Given the description of an element on the screen output the (x, y) to click on. 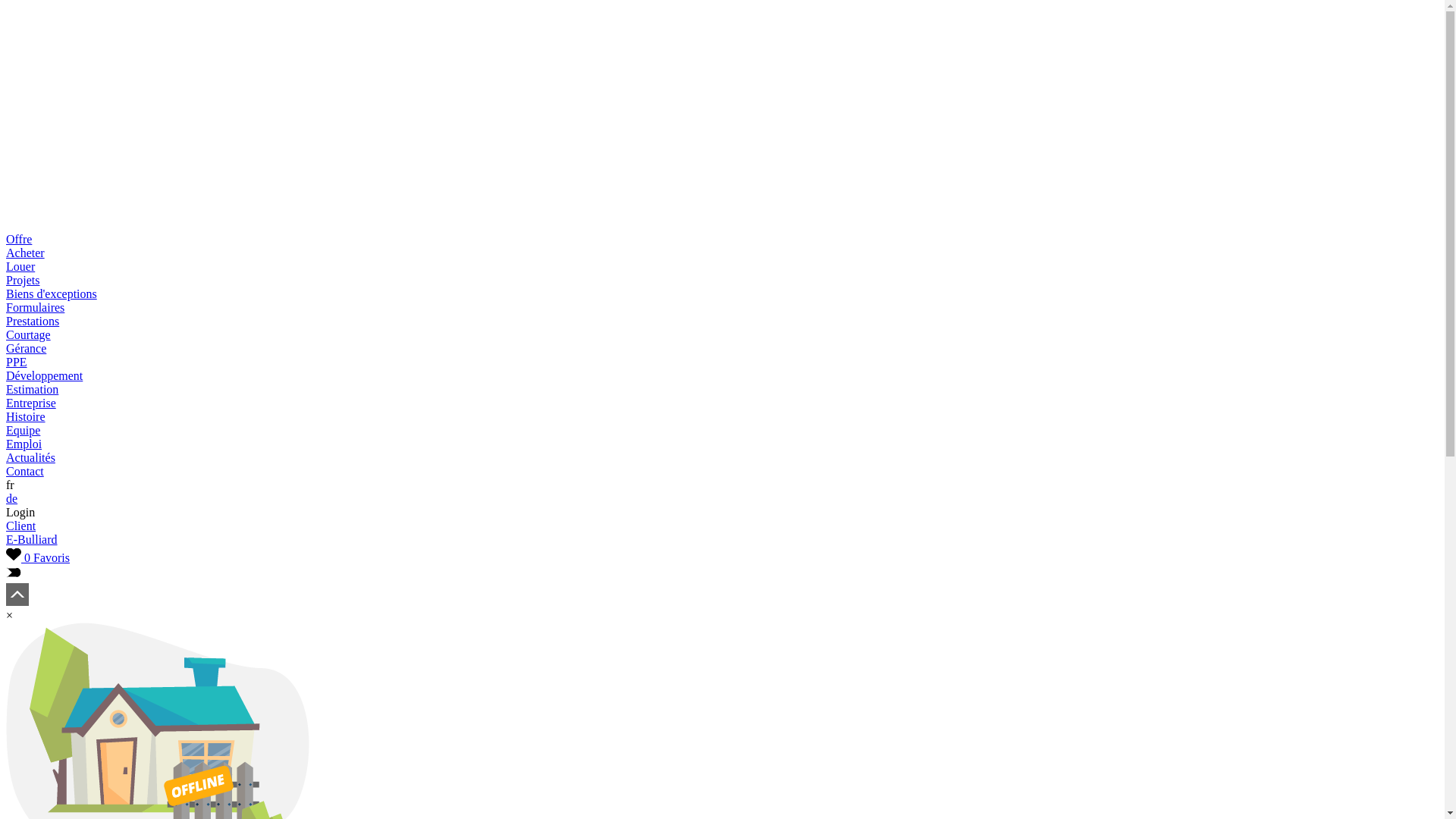
de Element type: text (11, 498)
Louer Element type: text (20, 266)
Client Element type: text (20, 525)
Estimation Element type: text (32, 388)
E-Bulliard Element type: text (31, 539)
Courtage Element type: text (28, 334)
Formulaires Element type: text (35, 307)
Prestations Element type: text (32, 320)
Histoire Element type: text (25, 416)
fr Element type: text (10, 484)
0 Favoris Element type: text (37, 557)
PPE Element type: text (16, 361)
Login Element type: text (20, 511)
Emploi Element type: text (23, 443)
Biens d'exceptions Element type: text (51, 293)
Acheter Element type: text (25, 252)
Contact Element type: text (24, 470)
Entreprise Element type: text (31, 402)
Equipe Element type: text (23, 429)
Projets Element type: text (22, 279)
Offre Element type: text (18, 238)
